Given the description of an element on the screen output the (x, y) to click on. 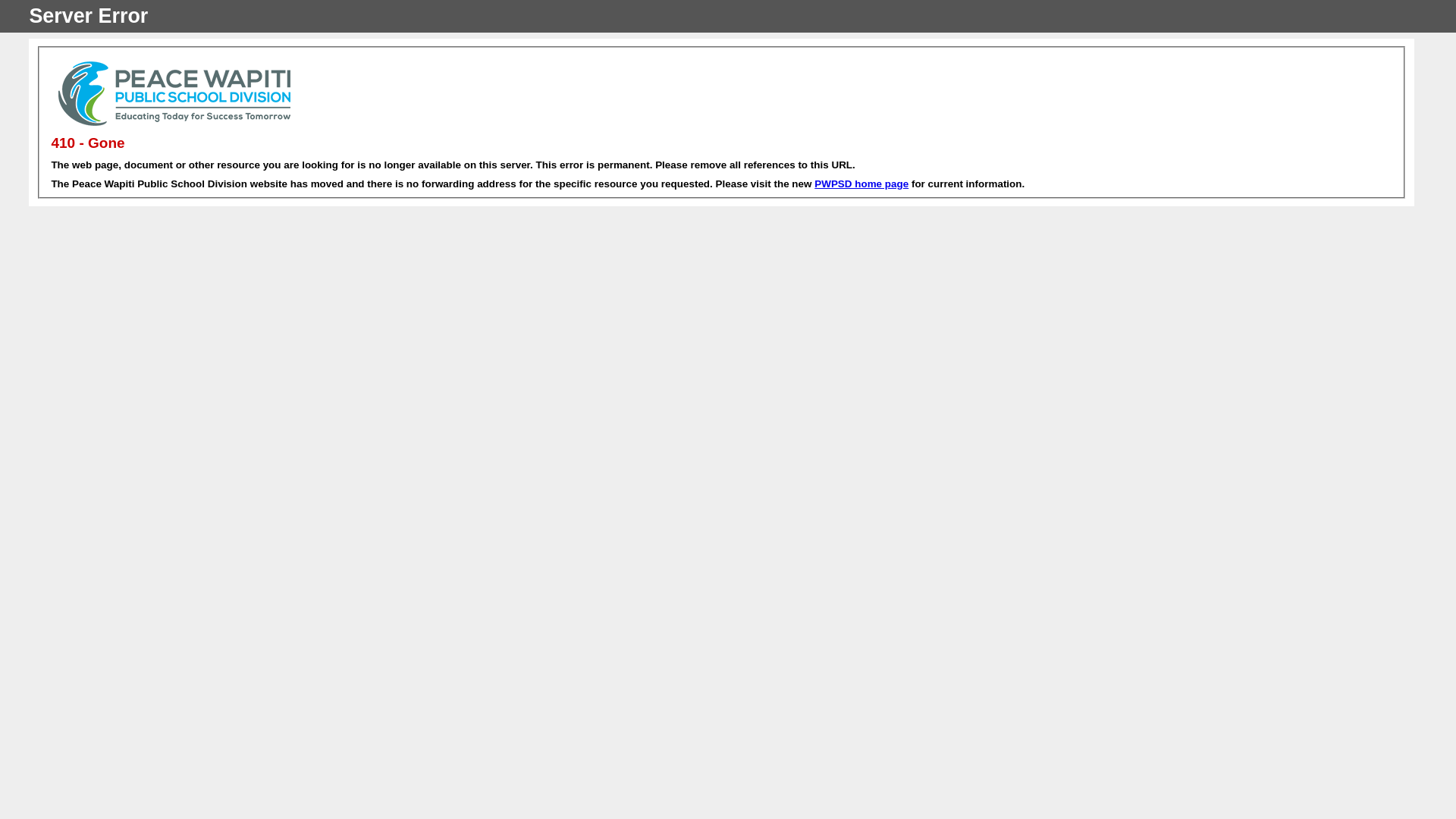
PWPSD home page Element type: text (861, 183)
